Given the description of an element on the screen output the (x, y) to click on. 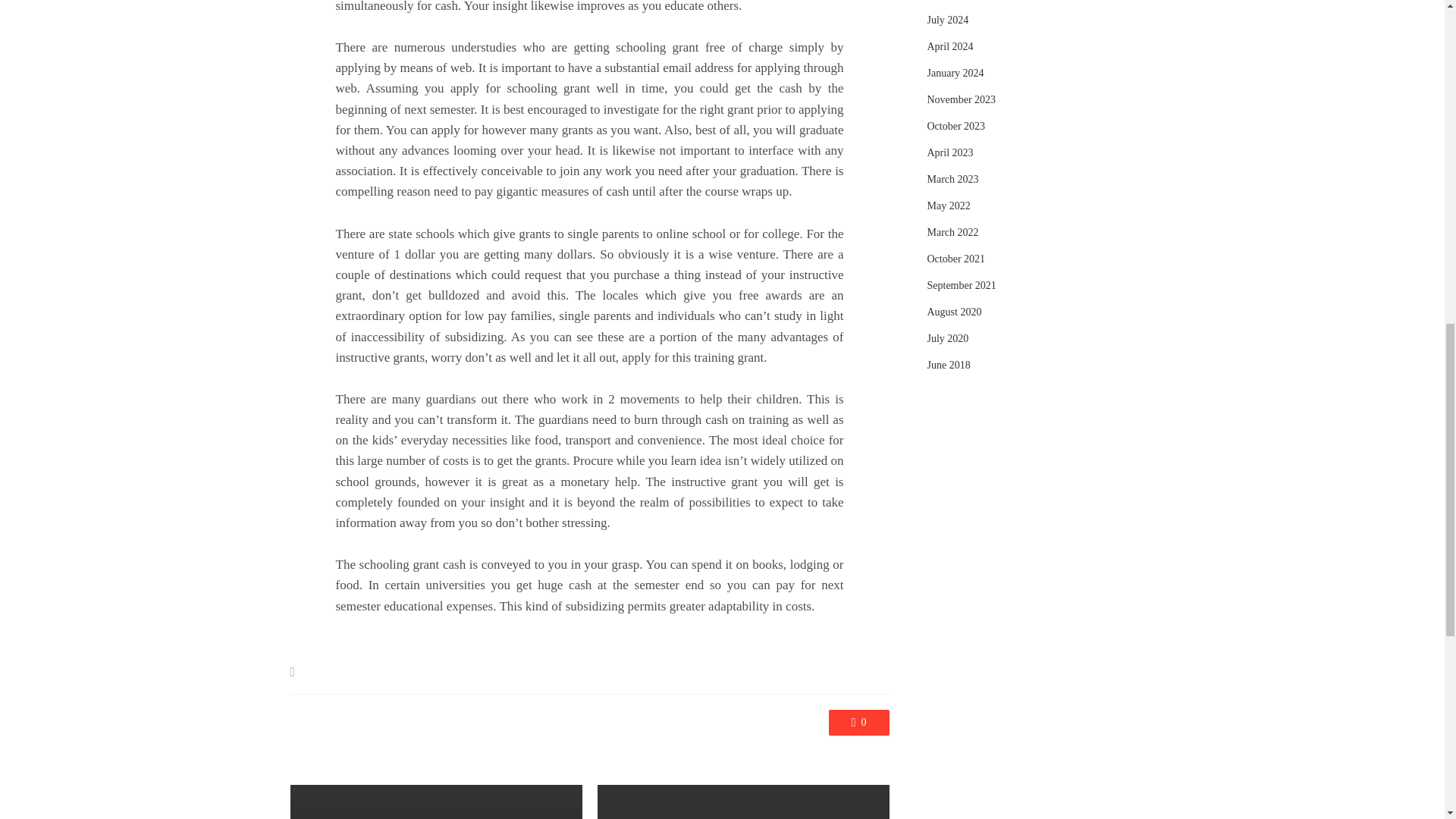
0 Comments (858, 722)
0 (858, 722)
